Given the description of an element on the screen output the (x, y) to click on. 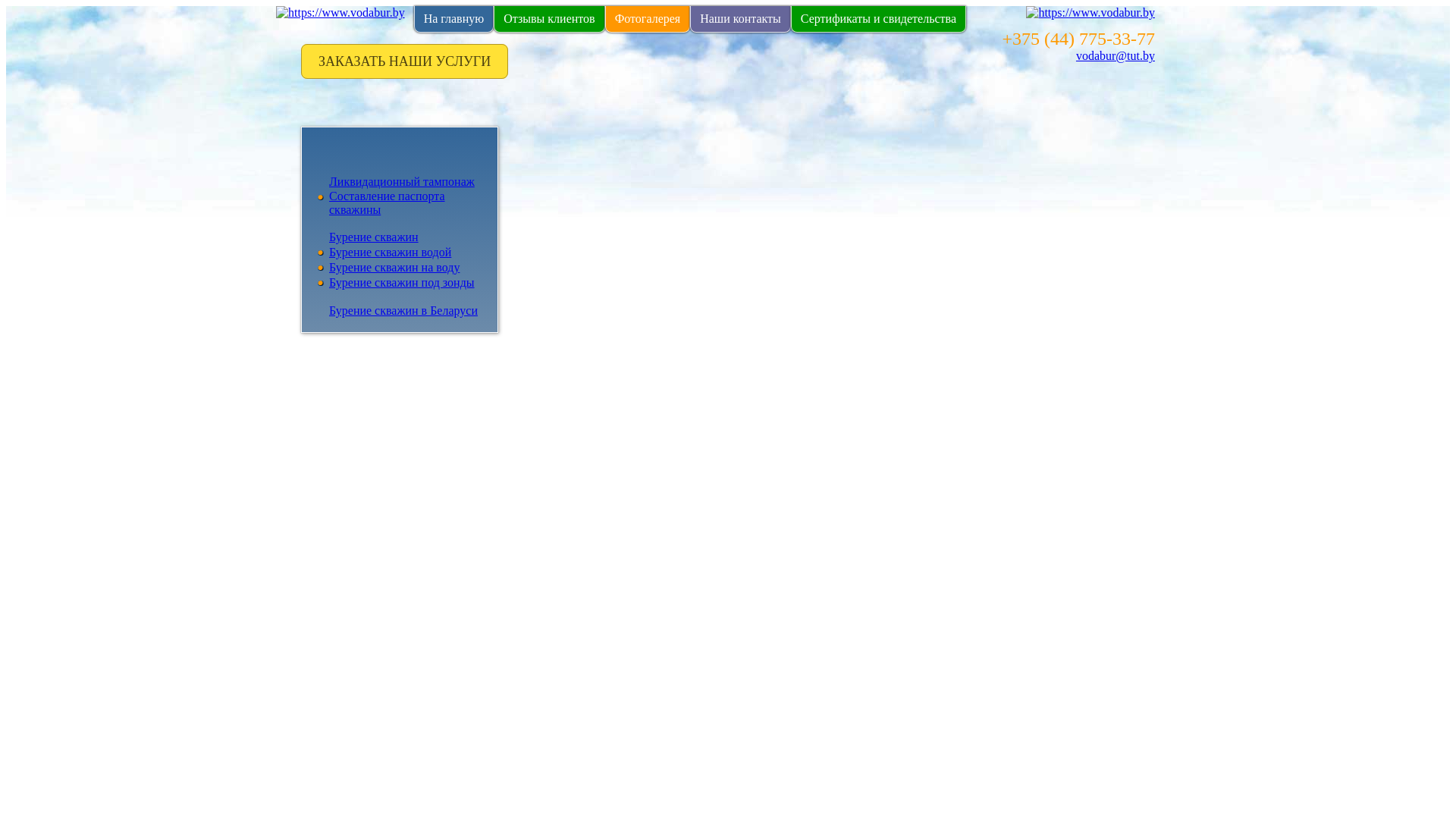
https://www.vodabur.by Element type: hover (340, 12)
https://www.vodabur.by Element type: hover (1090, 12)
https://www.vodabur.by Element type: hover (340, 12)
https://www.vodabur.by Element type: hover (1090, 12)
vodabur@tut.by Element type: text (1115, 55)
+375 (44) 775-33-77 Element type: text (1077, 38)
